Given the description of an element on the screen output the (x, y) to click on. 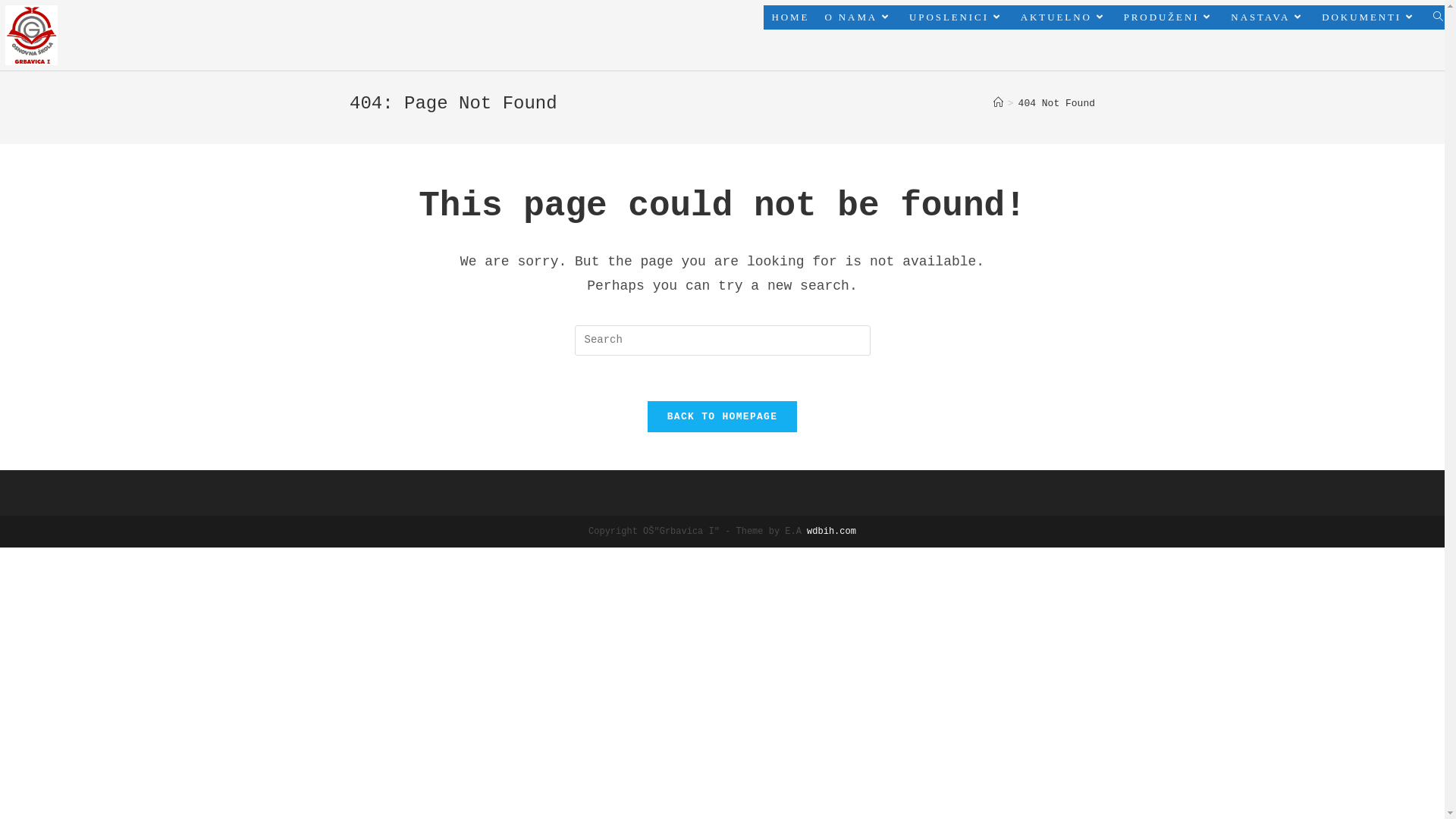
HOME Element type: text (789, 17)
O NAMA Element type: text (858, 17)
404 Not Found Element type: text (1056, 103)
UPOSLENICI Element type: text (957, 17)
BACK TO HOMEPAGE Element type: text (722, 416)
wdbih.com Element type: text (831, 531)
NASTAVA Element type: text (1268, 17)
AKTUELNO Element type: text (1064, 17)
DOKUMENTI Element type: text (1369, 17)
